Given the description of an element on the screen output the (x, y) to click on. 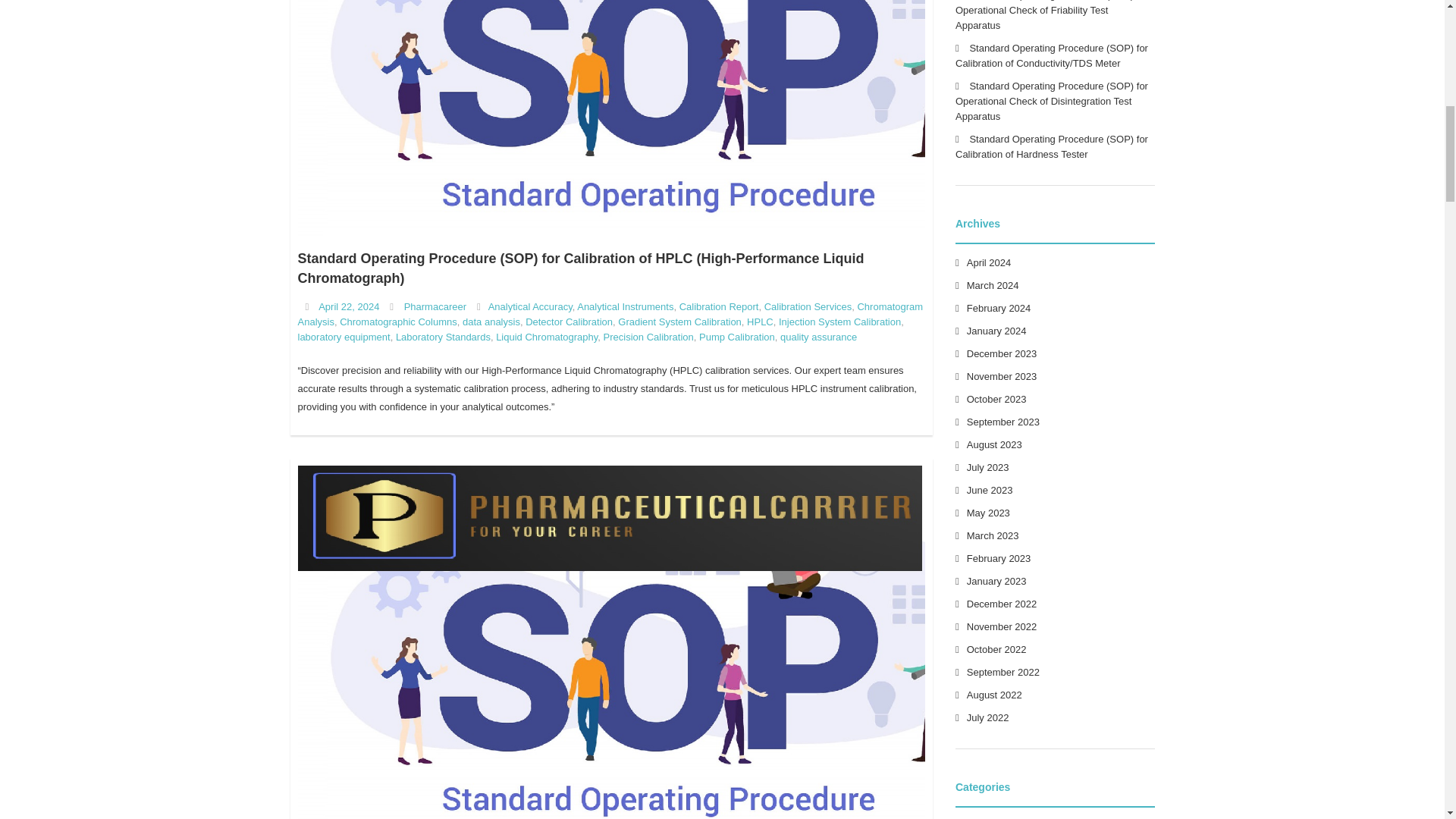
data analysis (491, 321)
Pharmacareer (434, 306)
Calibration Services (807, 306)
6:27 pm (348, 306)
April 22, 2024 (348, 306)
Chromatogram Analysis (610, 314)
View all posts by Pharmacareer (434, 306)
Chromatographic Columns (398, 321)
Calibration Report (718, 306)
Analytical Accuracy (529, 306)
